Given the description of an element on the screen output the (x, y) to click on. 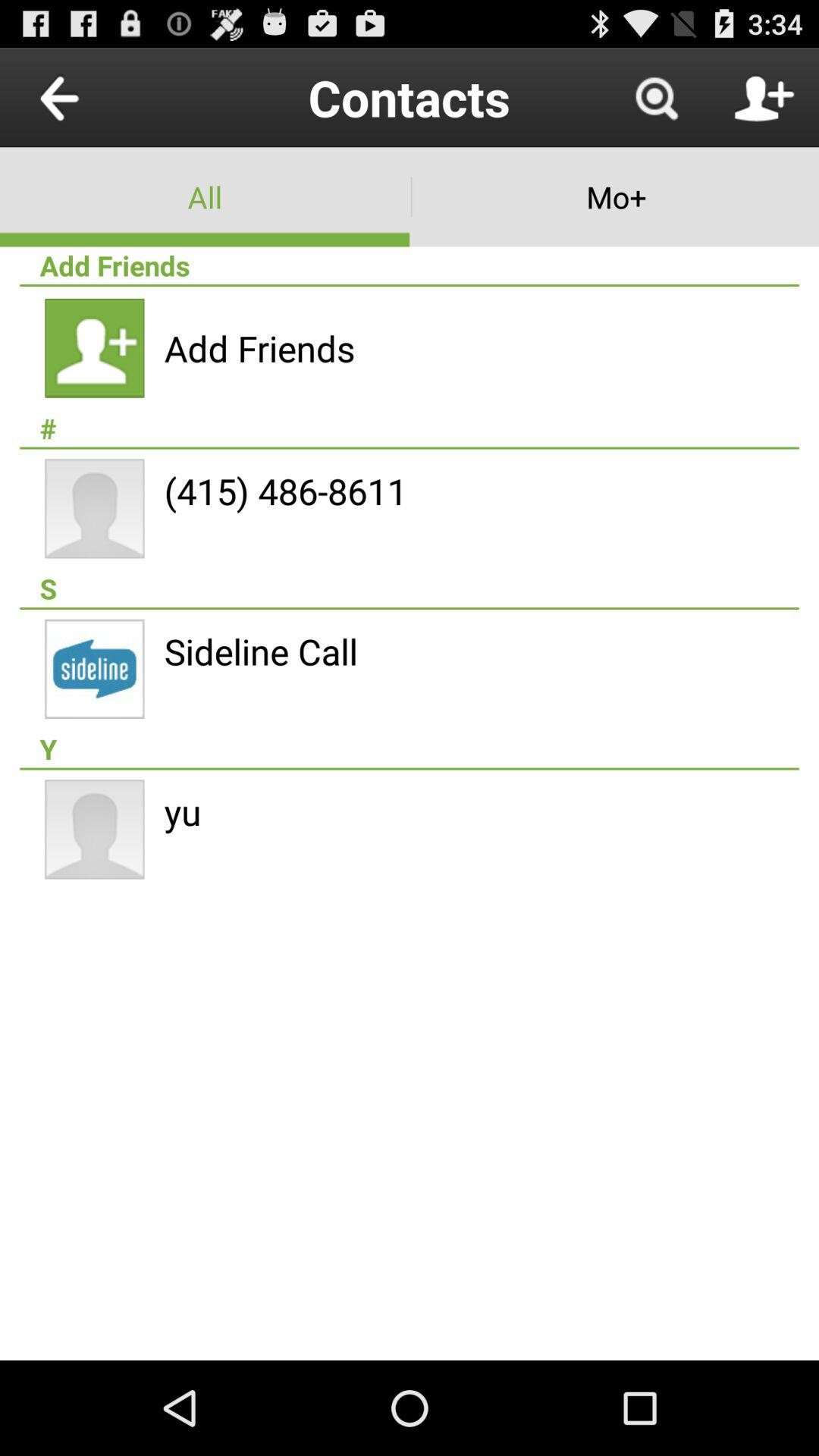
flip to # icon (409, 428)
